Given the description of an element on the screen output the (x, y) to click on. 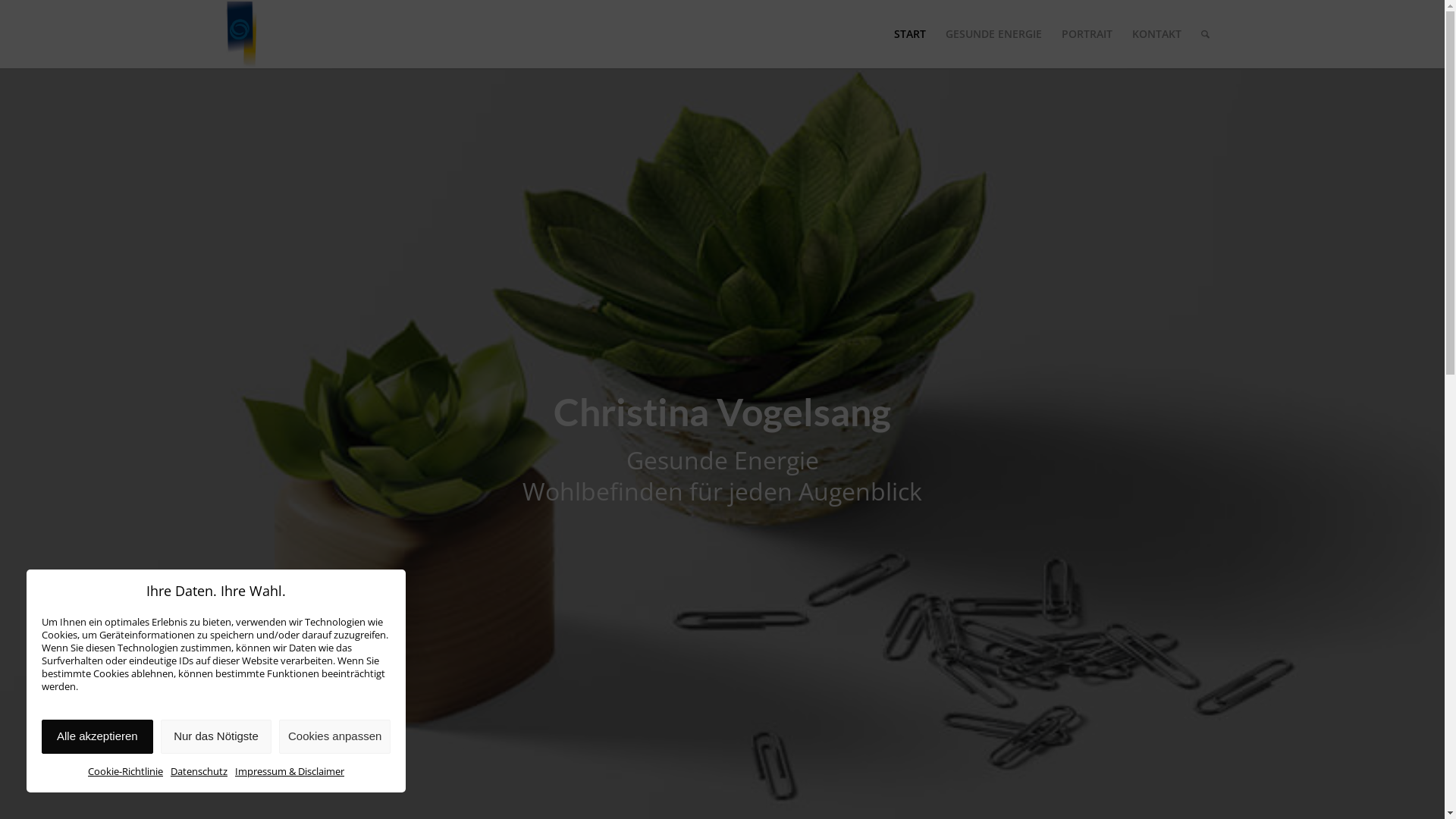
KONTAKT Element type: text (1156, 34)
Cookie-Richtlinie Element type: text (125, 771)
START Element type: text (909, 34)
Impressum & Disclaimer Element type: text (289, 771)
Alle akzeptieren Element type: text (97, 736)
PORTRAIT Element type: text (1086, 34)
GESUNDE ENERGIE Element type: text (993, 34)
Cookies anpassen Element type: text (334, 736)
Datenschutz Element type: text (198, 771)
